Given the description of an element on the screen output the (x, y) to click on. 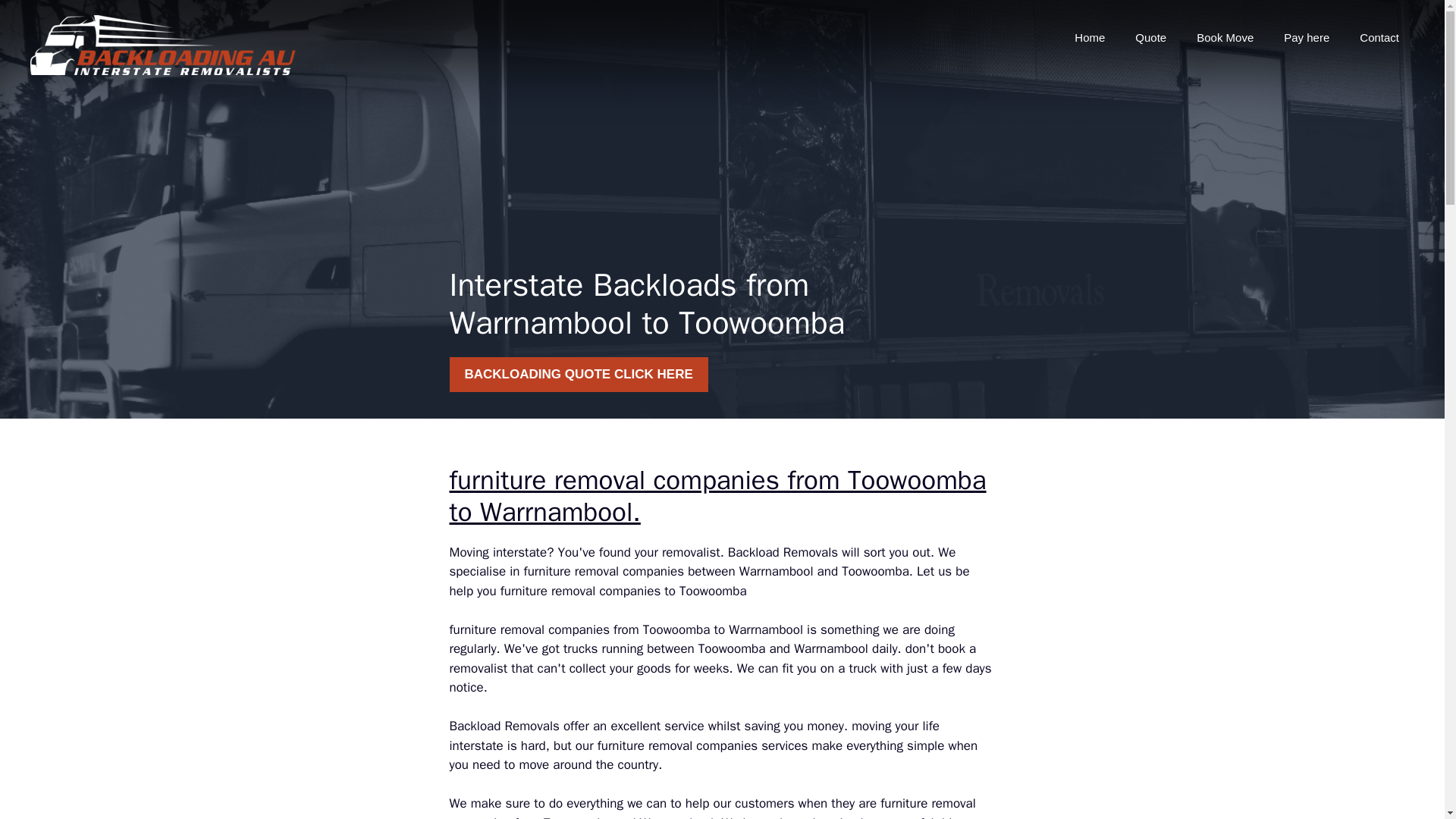
Contact (1378, 37)
Quote (1149, 37)
BACKLOADING QUOTE CLICK HERE (577, 374)
Book Move (1224, 37)
Home (1089, 37)
Search (42, 18)
Pay here (1305, 37)
